Given the description of an element on the screen output the (x, y) to click on. 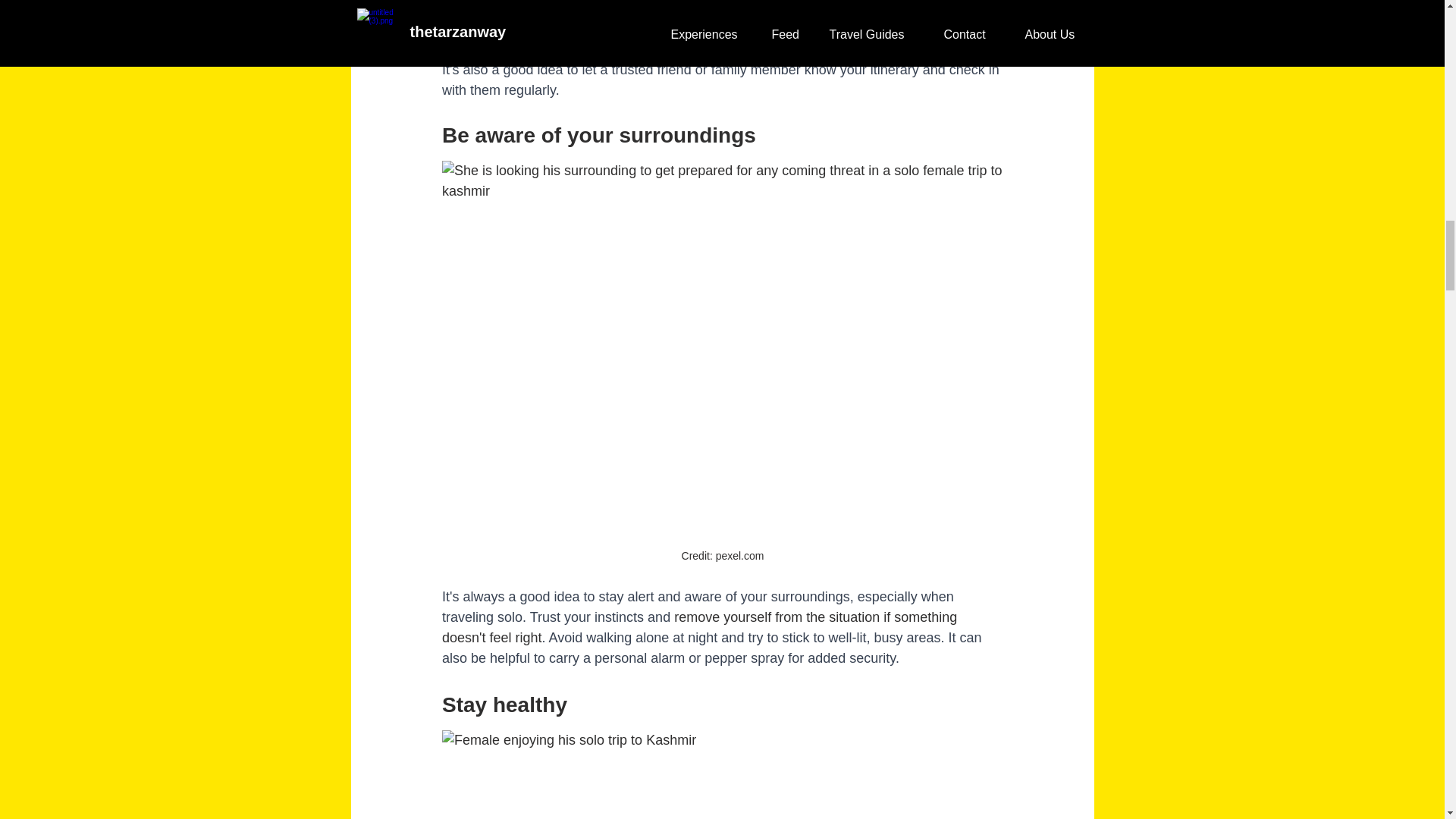
international calling plan (879, 28)
